Given the description of an element on the screen output the (x, y) to click on. 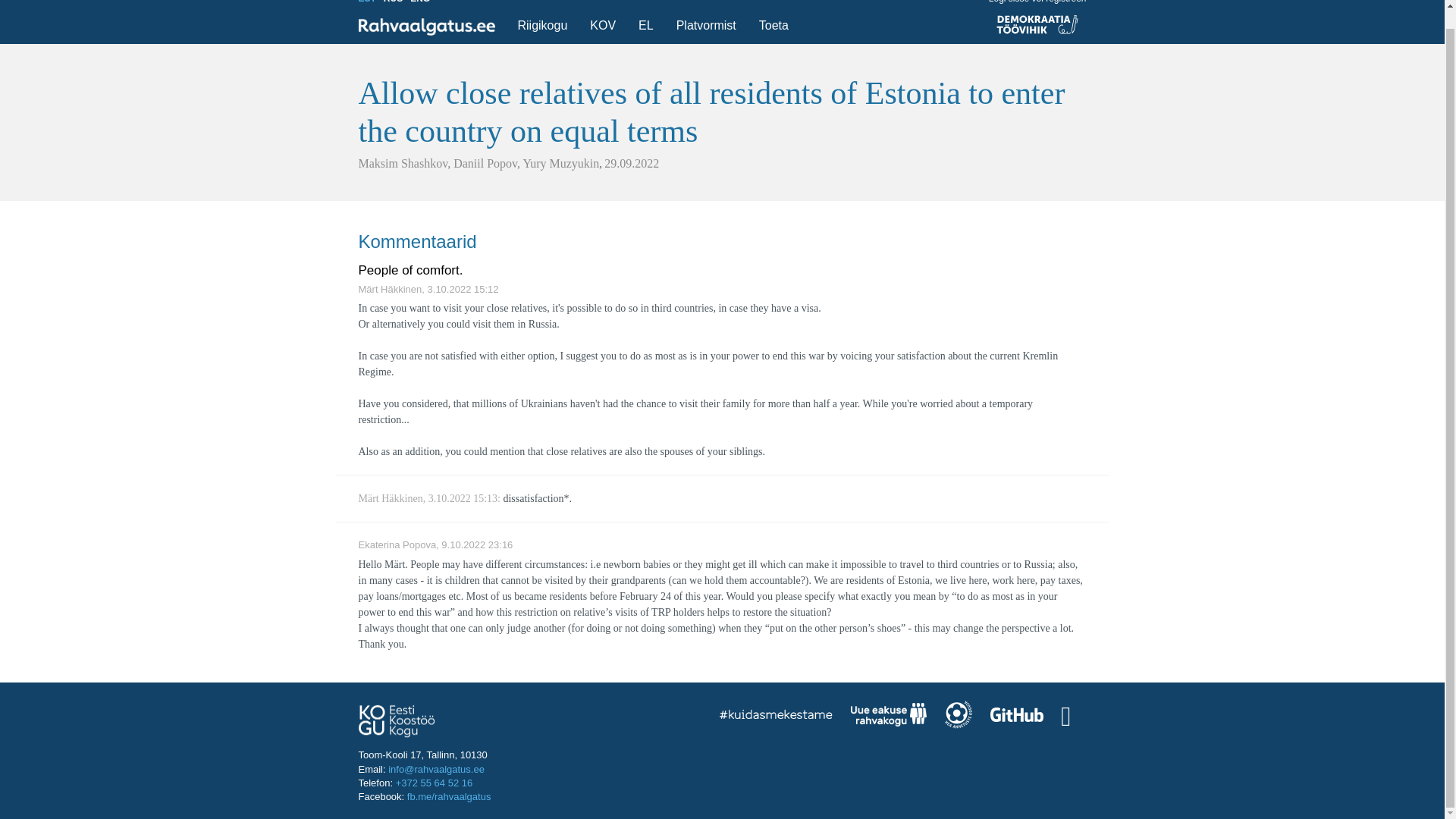
EL (645, 25)
Uue eakuse rahvakogu (888, 716)
3.10.2022 15:12 (463, 288)
People of comfort. (410, 269)
Riigikogu (542, 25)
9.10.2022 23:16 (476, 544)
KOV (602, 25)
Platvormist (706, 25)
RUS (393, 2)
ENG (419, 2)
EST (366, 2)
3.10.2022 15:13 (462, 498)
Toeta (773, 25)
Rahvaalgatuse arendus toimub GitHubis. (1016, 716)
